Given the description of an element on the screen output the (x, y) to click on. 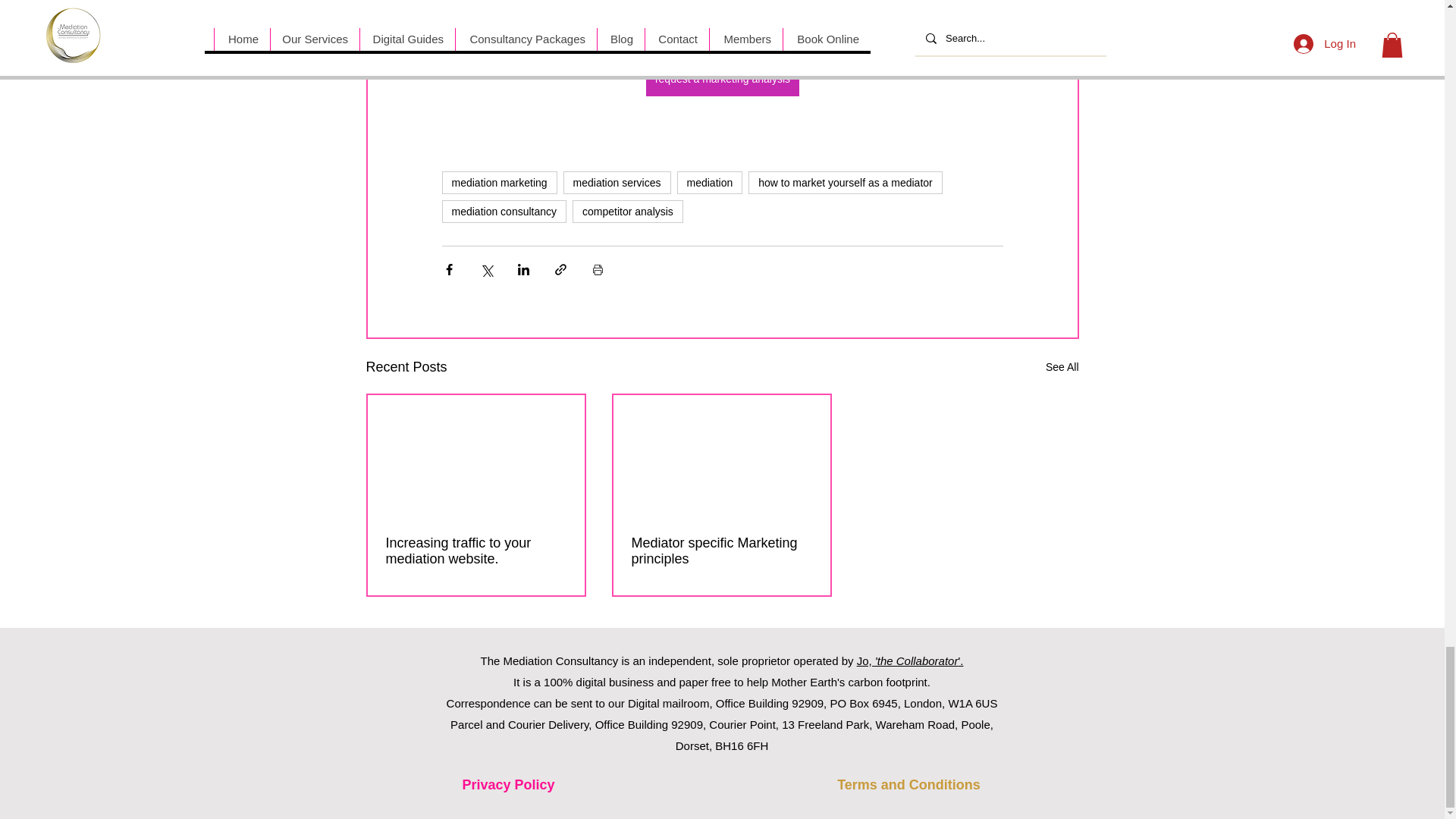
mediation services (617, 182)
competitor analysis (627, 210)
mediation marketing (498, 182)
mediation (709, 182)
how to market yourself as a mediator (845, 182)
mediation consultancy (503, 210)
request a marketing analysis (721, 79)
